Given the description of an element on the screen output the (x, y) to click on. 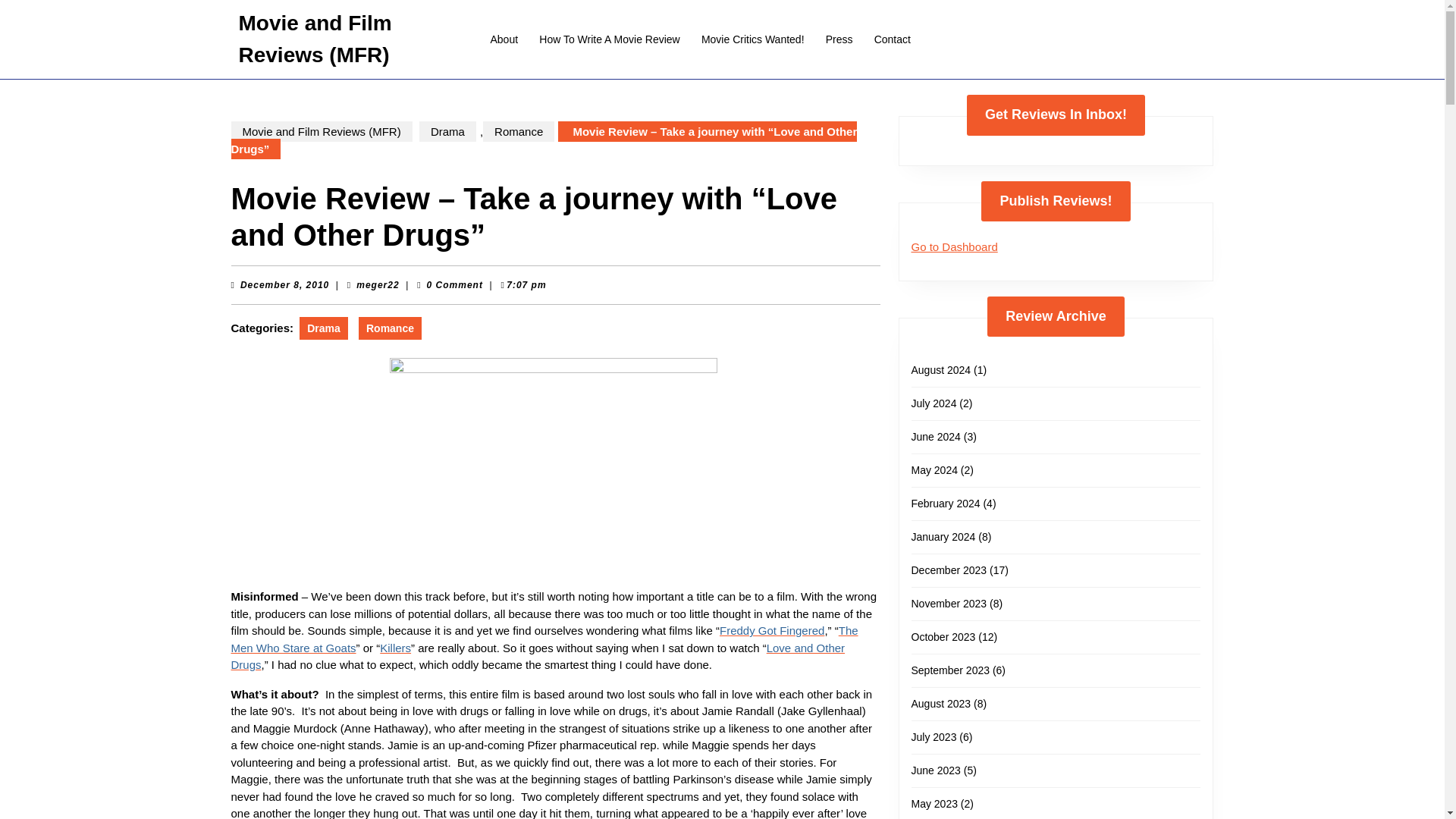
About (503, 39)
Romance (390, 327)
Freddy Got Fingered (771, 630)
Press (838, 39)
Romance (518, 131)
Love and Other Drugs (537, 656)
The Men Who Stare at Goats (543, 639)
Killers (395, 647)
Drama (377, 285)
